Given the description of an element on the screen output the (x, y) to click on. 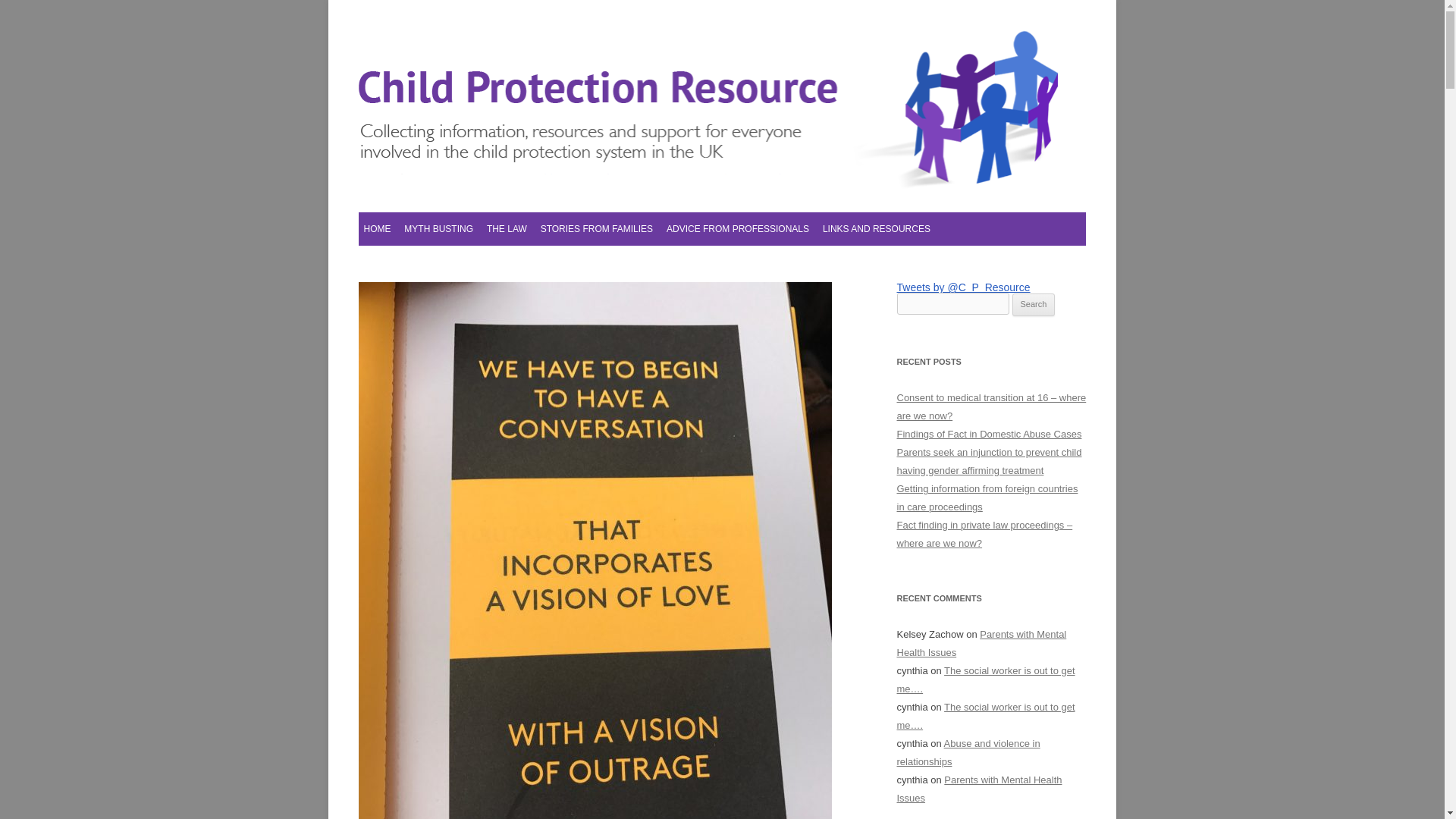
MYTH BUSTING (438, 228)
HOME (376, 228)
THE LAW (506, 228)
Search (1033, 304)
